Given the description of an element on the screen output the (x, y) to click on. 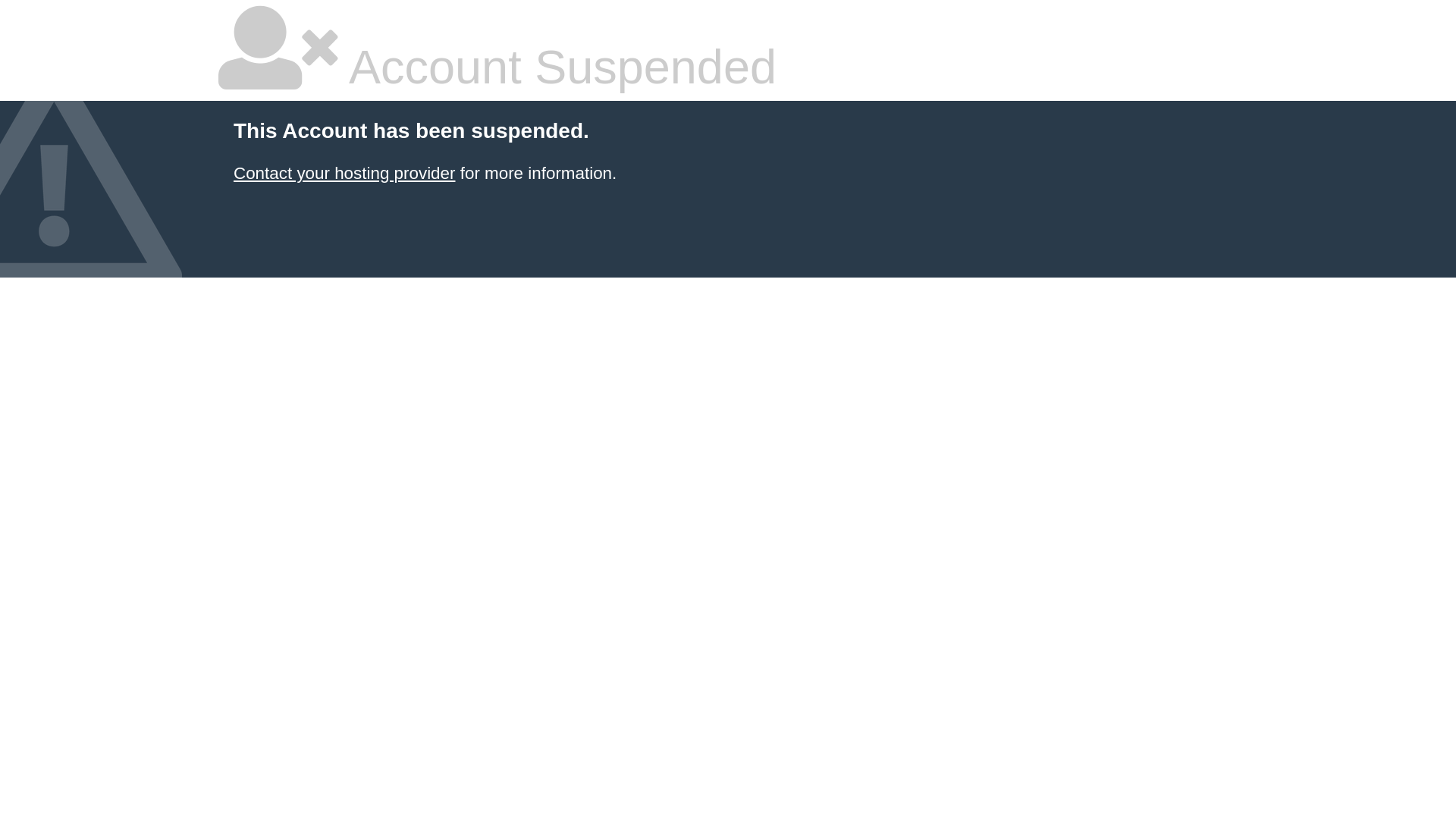
Contact your hosting provider Element type: text (344, 172)
